Given the description of an element on the screen output the (x, y) to click on. 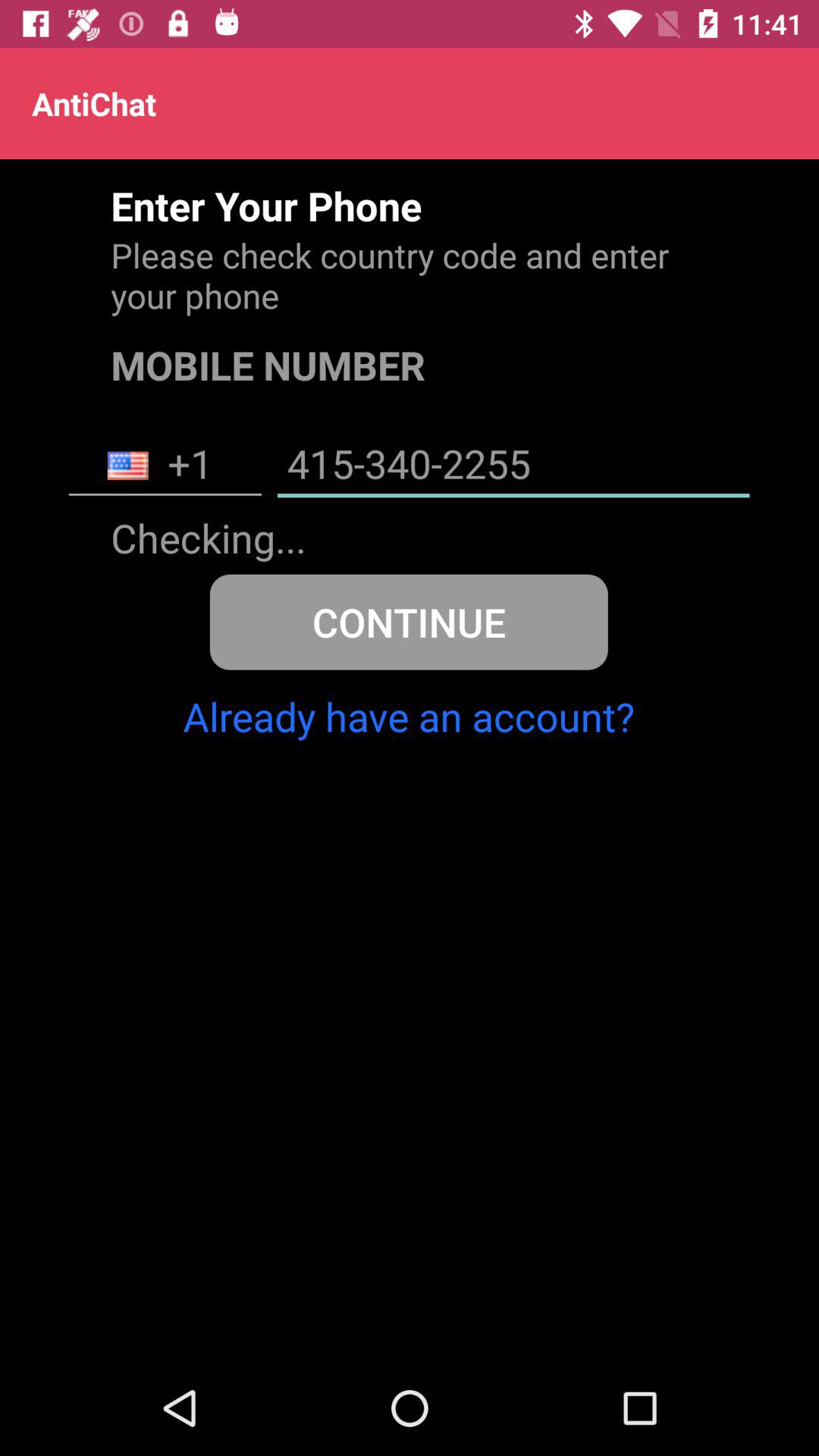
flip to already have an icon (408, 715)
